Given the description of an element on the screen output the (x, y) to click on. 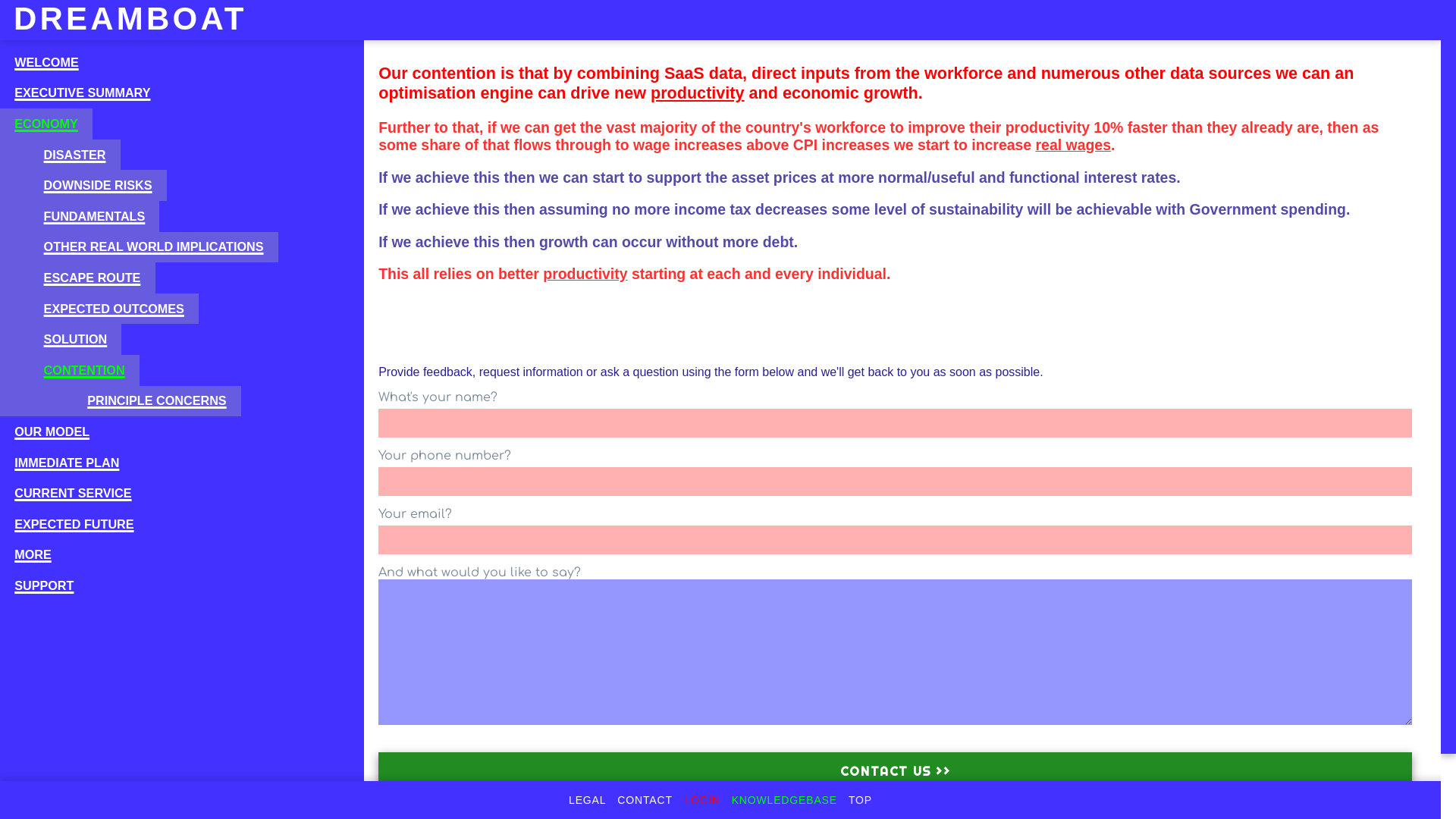
LEGAL Element type: text (586, 799)
KNOWLEDGEBASE Element type: text (784, 799)
DREAMBOAT Element type: text (123, 18)
LOGIN Element type: text (702, 799)
SUPPORT Element type: text (44, 585)
EXPECTED OUTCOMES Element type: text (99, 308)
ECONOMY Element type: text (46, 123)
CONTENTION Element type: text (69, 369)
FUNDAMENTALS Element type: text (79, 216)
PRINCIPLE CONCERNS Element type: text (120, 401)
CURRENT SERVICE Element type: text (73, 492)
DISASTER Element type: text (60, 154)
OTHER REAL WORLD IMPLICATIONS Element type: text (139, 247)
productivity Element type: text (697, 92)
DOWNSIDE RISKS Element type: text (83, 184)
SOLUTION Element type: text (60, 338)
IMMEDIATE PLAN Element type: text (67, 462)
WELCOME Element type: text (46, 62)
TOP Element type: text (860, 799)
EXECUTIVE SUMMARY Element type: text (82, 93)
real wages Element type: text (1072, 144)
MORE Element type: text (32, 555)
EXPECTED FUTURE Element type: text (74, 523)
productivity Element type: text (584, 273)
OUR MODEL Element type: text (51, 431)
CONTACT Element type: text (644, 799)
ESCAPE ROUTE Element type: text (77, 277)
Contact us >> Element type: text (895, 771)
